Given the description of an element on the screen output the (x, y) to click on. 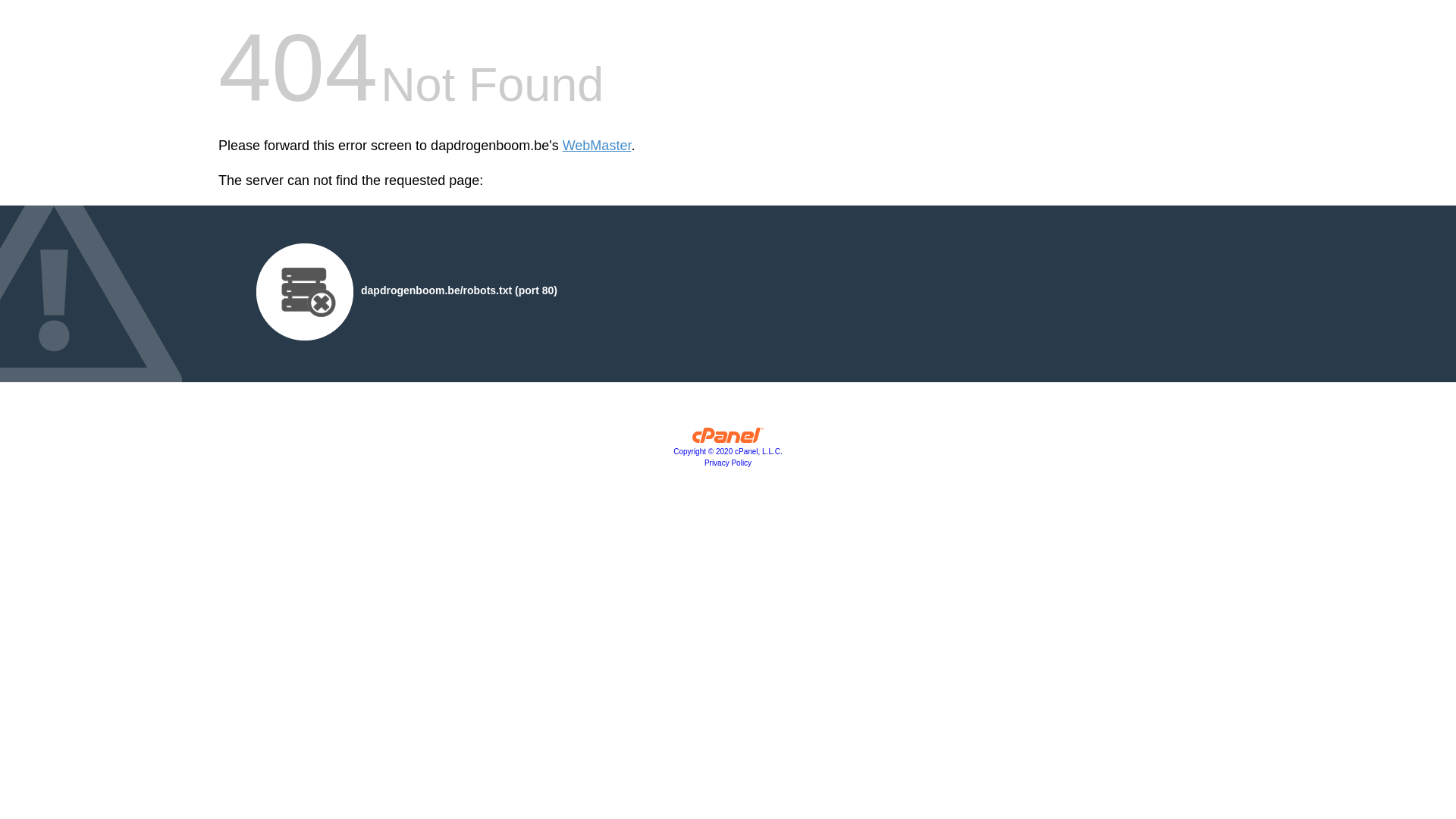
WebMaster Element type: text (596, 145)
Privacy Policy Element type: text (727, 462)
cPanel, Inc. Element type: hover (728, 439)
